Given the description of an element on the screen output the (x, y) to click on. 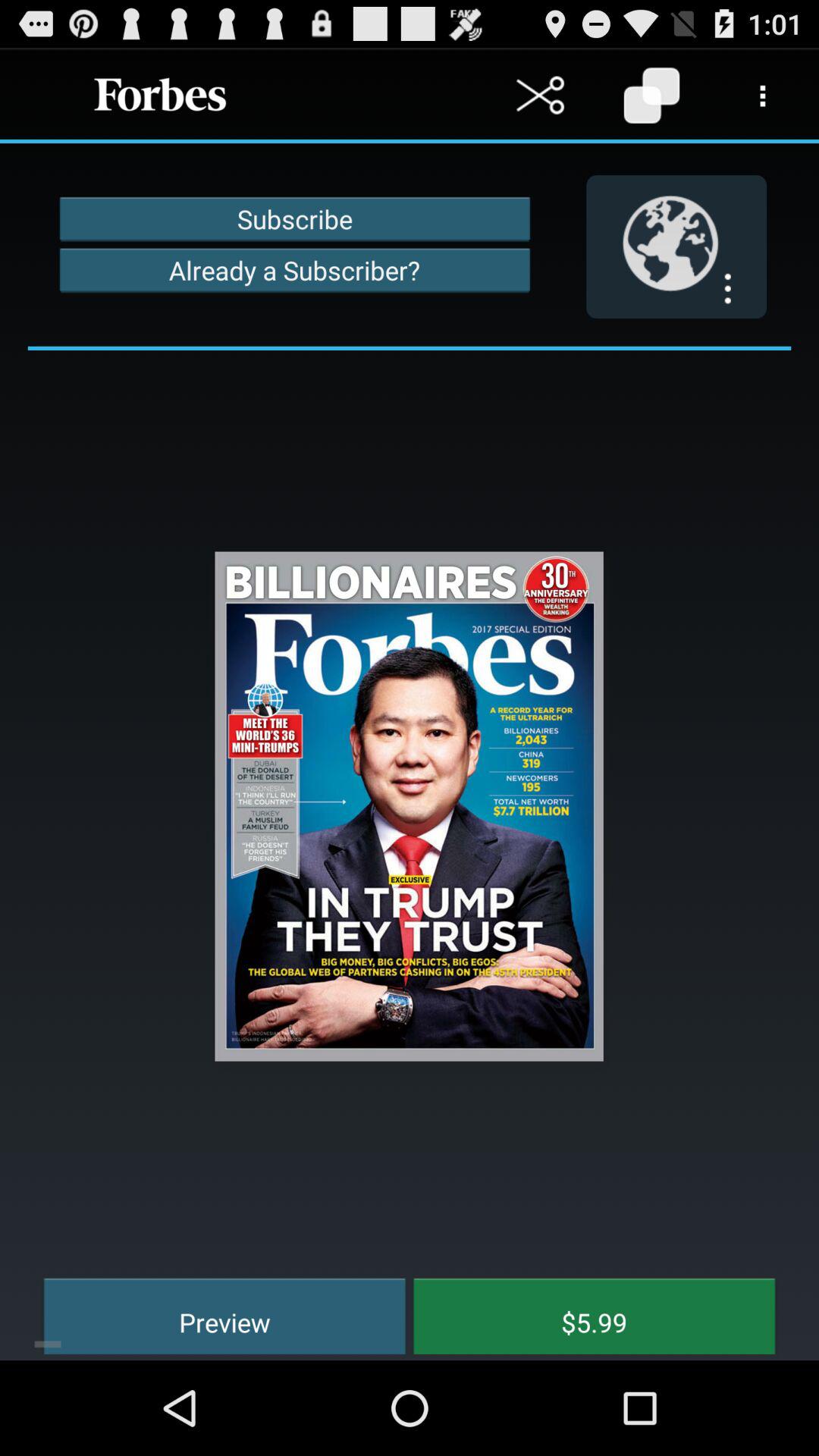
choose the already a subscriber? item (294, 269)
